Given the description of an element on the screen output the (x, y) to click on. 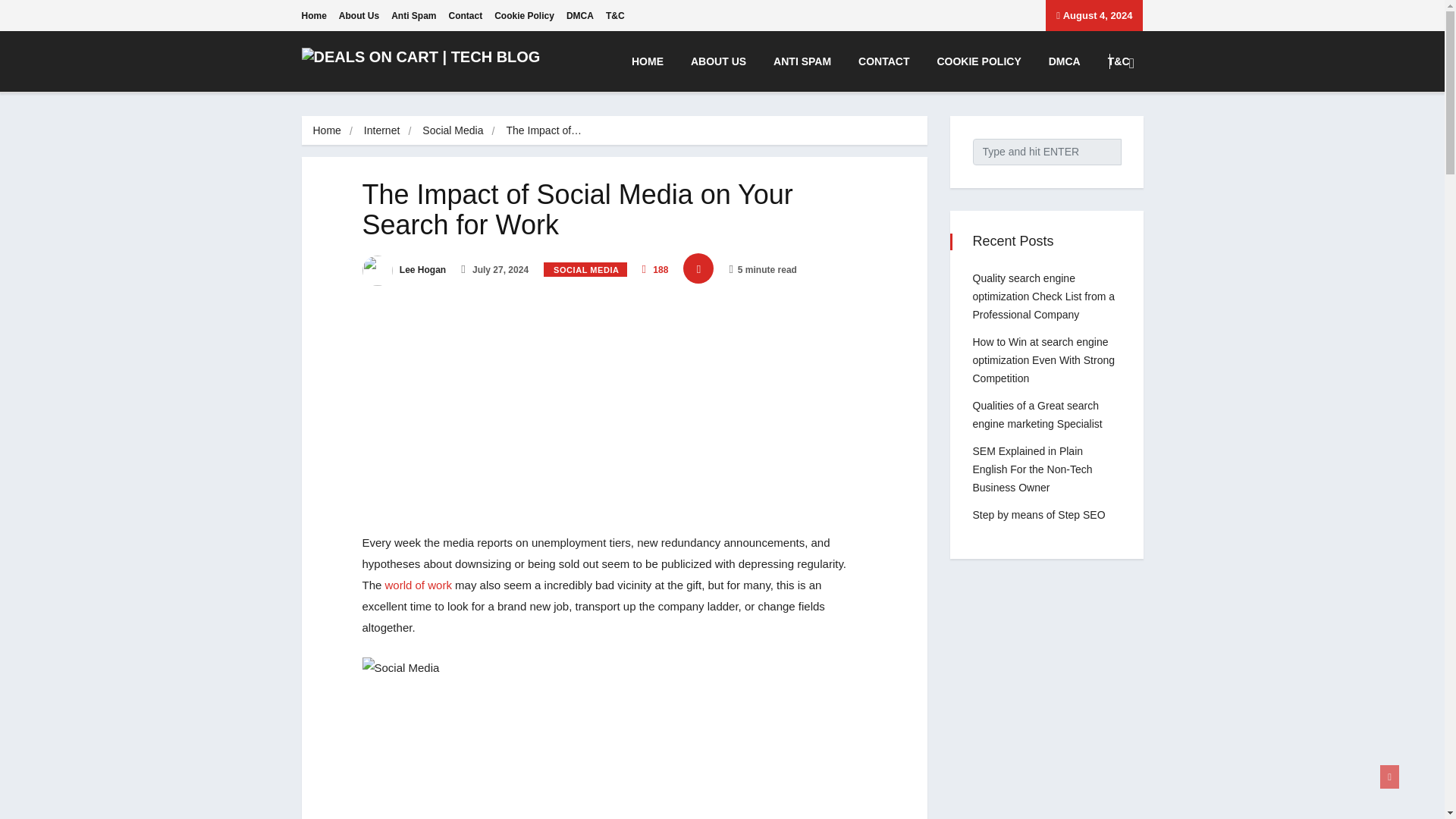
ANTI SPAM (802, 61)
About Us (358, 15)
world of work (418, 584)
CONTACT (883, 61)
Back to Top (1389, 776)
COOKIE POLICY (978, 61)
Internet (381, 130)
HOME (647, 61)
Anti Spam (413, 15)
SOCIAL MEDIA (584, 269)
Social Media (452, 130)
DMCA (580, 15)
Home (326, 130)
DMCA (1064, 61)
Contact (465, 15)
